Given the description of an element on the screen output the (x, y) to click on. 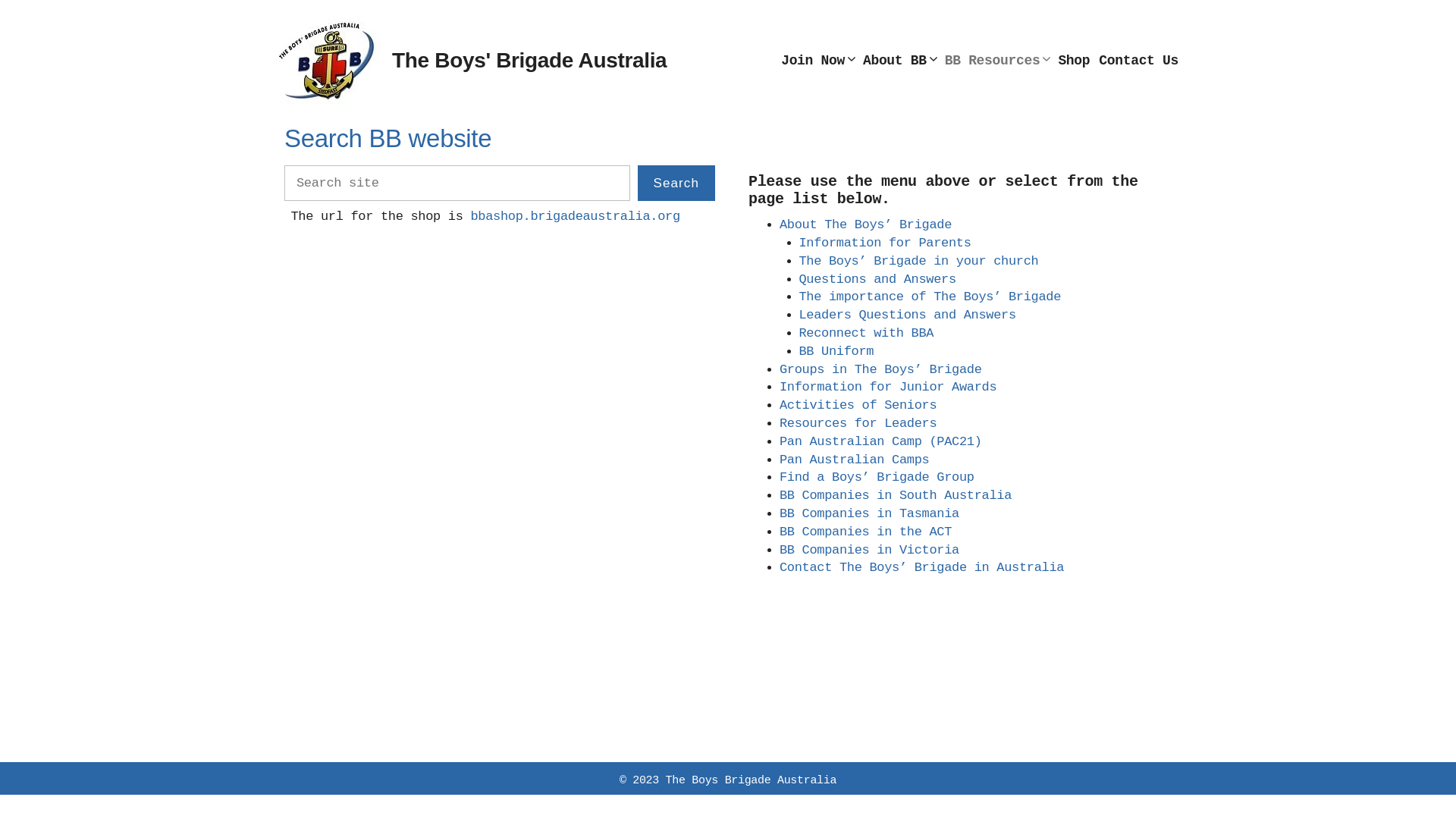
Join Now Element type: text (817, 60)
Reconnect with BBA Element type: text (866, 333)
BB Resources Element type: text (997, 60)
bbashop.brigadeaustralia.org Element type: text (574, 216)
BB Uniform Element type: text (836, 351)
Resources for Leaders Element type: text (857, 423)
BB Companies in South Australia Element type: text (895, 495)
BB Companies in Tasmania Element type: text (869, 513)
Pan Australian Camps Element type: text (853, 459)
About BB Element type: text (899, 60)
Shop Element type: text (1073, 60)
Questions and Answers Element type: text (877, 279)
BB Companies in the ACT Element type: text (865, 531)
Search Element type: text (676, 183)
Activities of Seniors Element type: text (857, 405)
Leaders Questions and Answers Element type: text (907, 314)
BB Companies in Victoria Element type: text (869, 549)
Pan Australian Camp (PAC21) Element type: text (880, 441)
Information for Junior Awards Element type: text (887, 386)
Information for Parents Element type: text (885, 242)
Contact Us Element type: text (1138, 60)
The Boys' Brigade Australia Element type: text (529, 60)
